Given the description of an element on the screen output the (x, y) to click on. 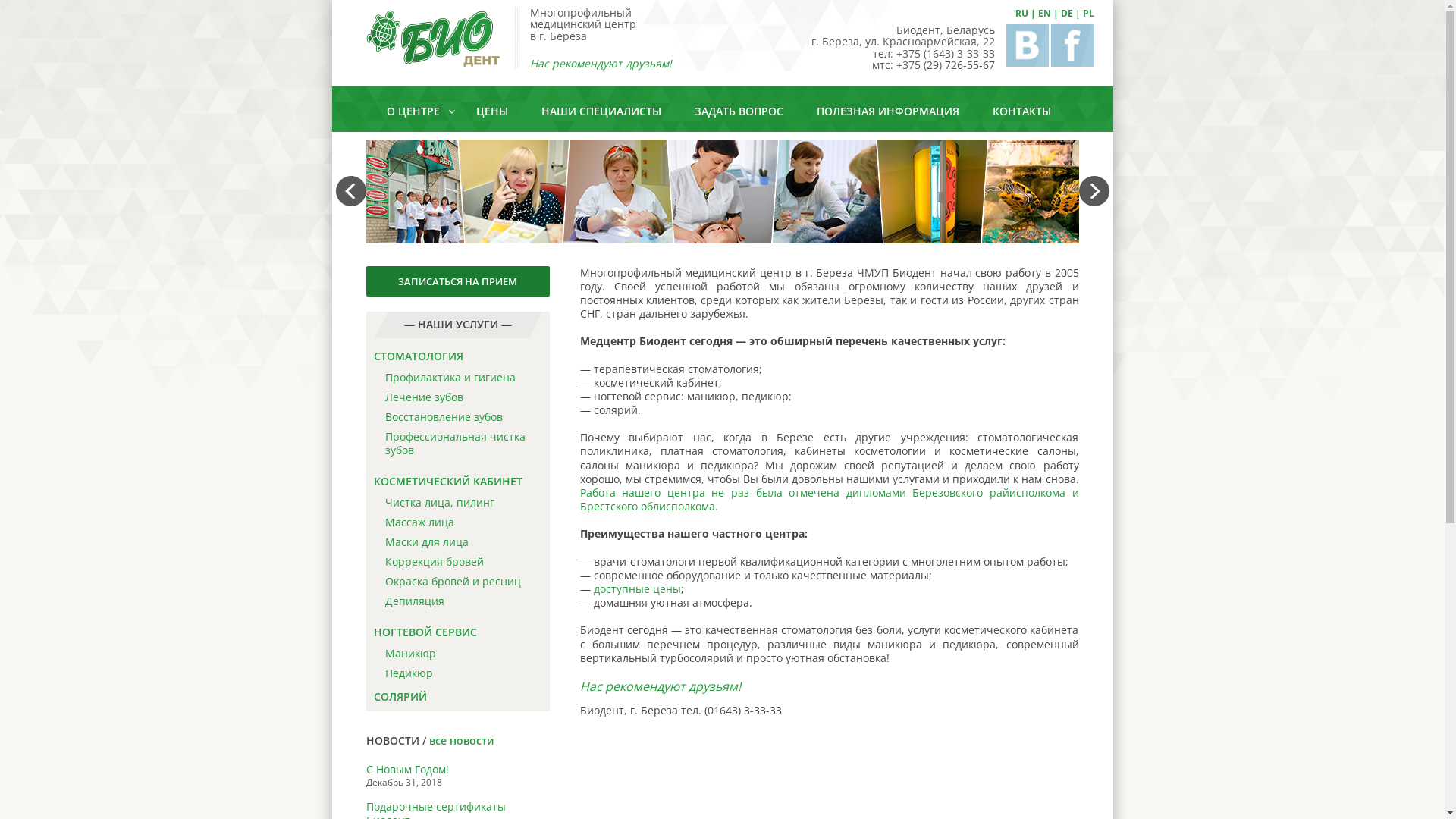
DE Element type: text (1066, 12)
EN Element type: text (1043, 12)
PL Element type: text (1088, 12)
RU Element type: text (1020, 12)
